Given the description of an element on the screen output the (x, y) to click on. 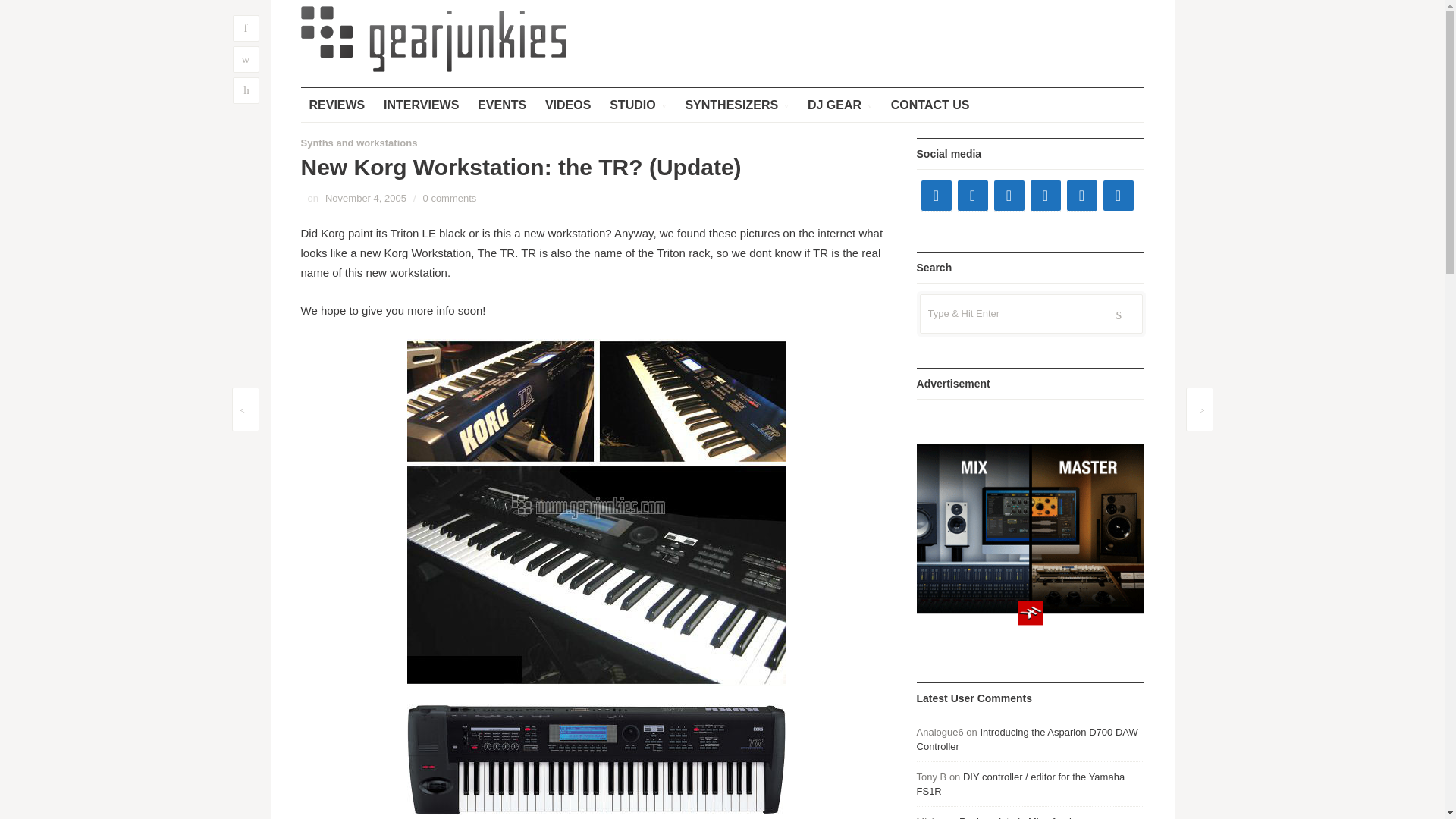
STUDIO (637, 104)
Facebook (935, 195)
YouTube (1007, 195)
Synths and workstations (357, 142)
DJ GEAR (839, 104)
CONTACT US (930, 104)
0 comments (450, 197)
f (245, 28)
INTERVIEWS (421, 104)
EVENTS (501, 104)
